Given the description of an element on the screen output the (x, y) to click on. 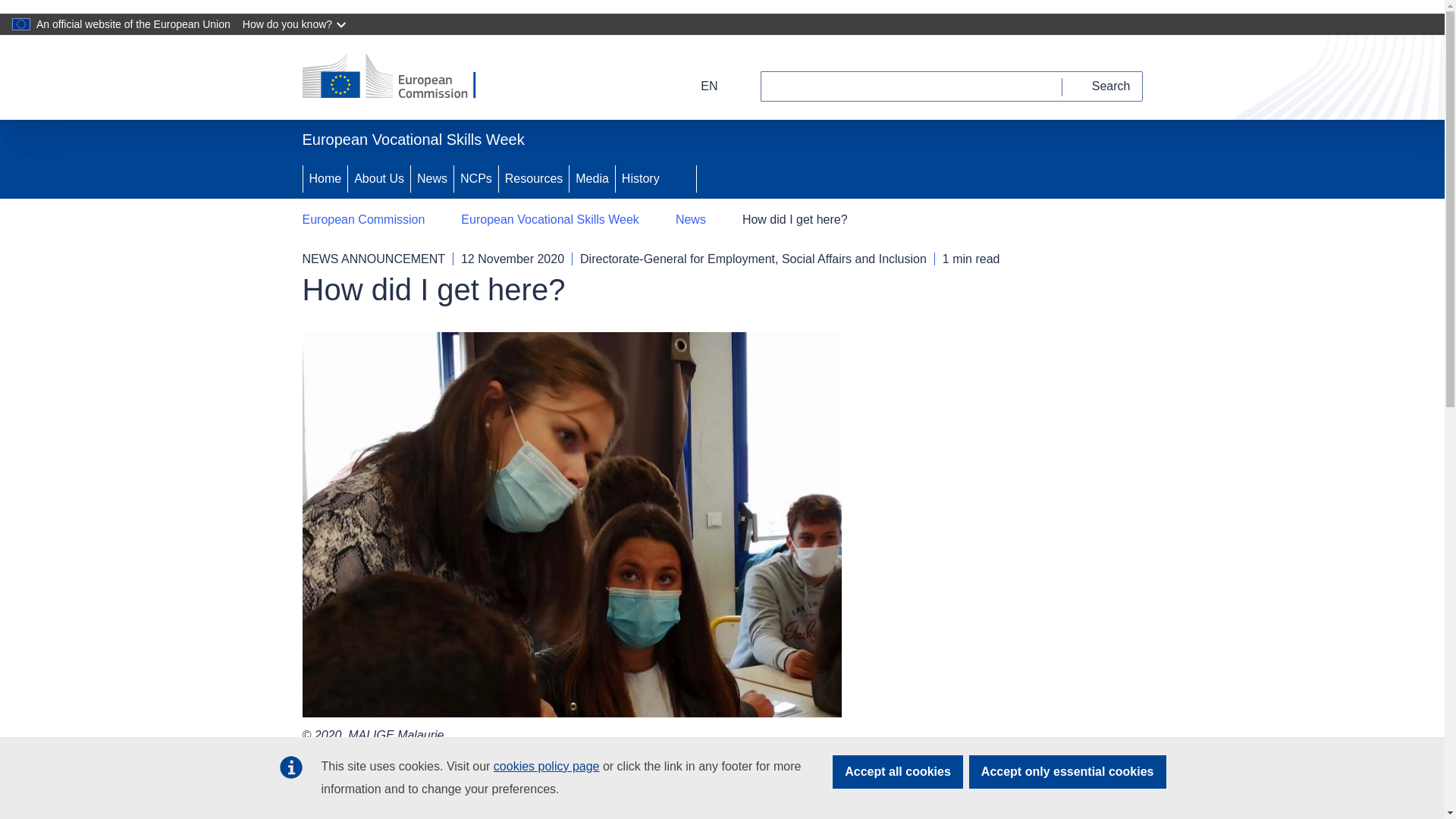
Media (591, 178)
How do you know? (295, 24)
Resources (534, 178)
NCPs (475, 178)
History (638, 178)
News (690, 219)
Accept all cookies (897, 771)
European Vocational Skills Week (550, 219)
About Us (378, 178)
European Commission (363, 219)
Search (1102, 86)
cookies policy page (546, 766)
News (431, 178)
EN (699, 86)
